Given the description of an element on the screen output the (x, y) to click on. 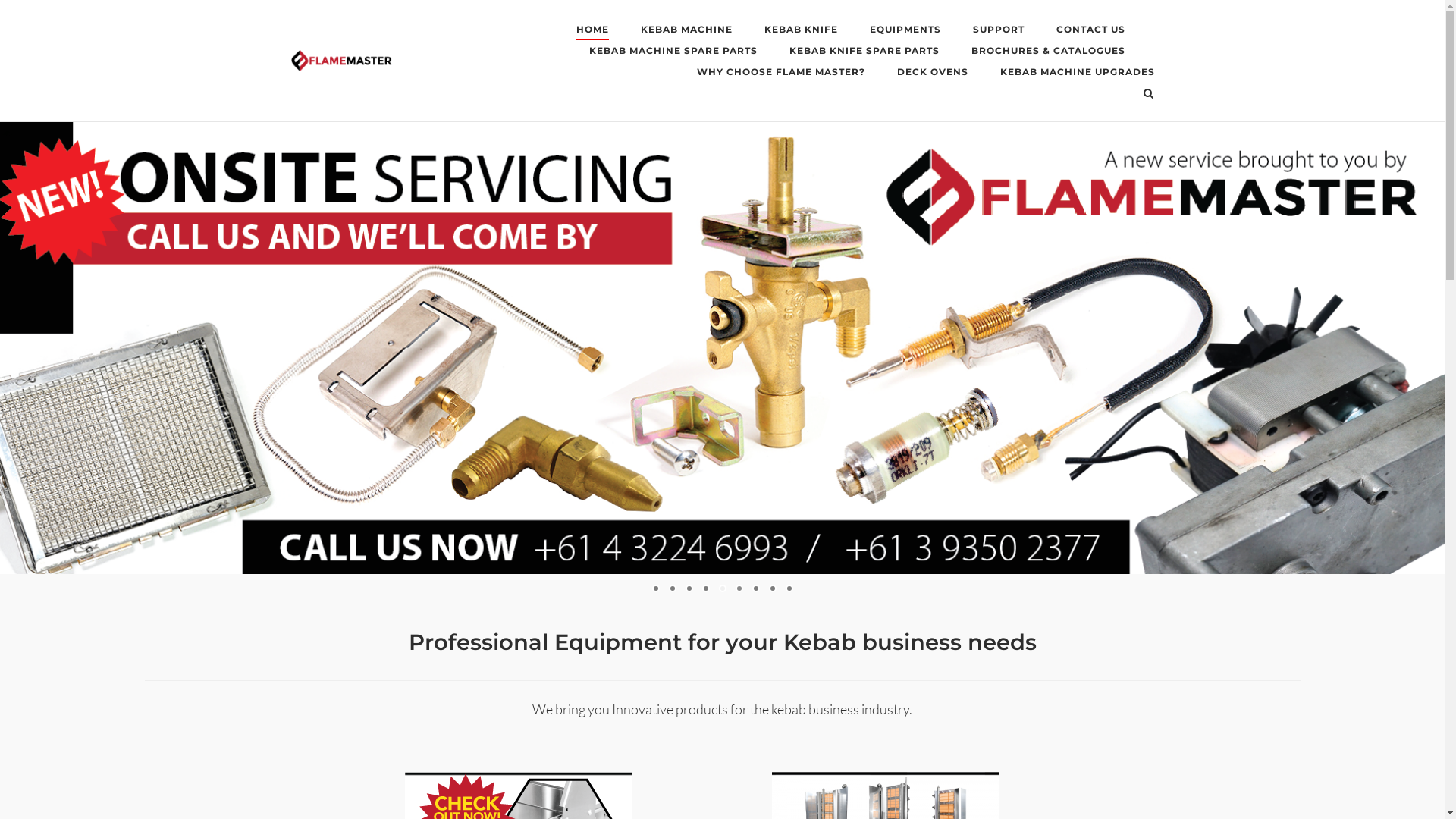
HOME Element type: text (592, 31)
4 Element type: text (705, 588)
9 Element type: text (789, 588)
3 Element type: text (689, 588)
KEBAB KNIFE SPARE PARTS Element type: text (863, 52)
SUPPORT Element type: text (997, 31)
1 Element type: text (655, 588)
KEBAB MACHINE SPARE PARTS Element type: text (672, 52)
BROCHURES & CATALOGUES Element type: text (1047, 52)
KEBAB MACHINE UPGRADES Element type: text (1076, 73)
KEBAB MACHINE Element type: text (685, 31)
KEBAB KNIFE Element type: text (800, 31)
2 Element type: text (672, 588)
DECK OVENS Element type: text (931, 73)
7 Element type: text (755, 588)
8 Element type: text (772, 588)
CONTACT US Element type: text (1089, 31)
5 Element type: text (722, 588)
6 Element type: text (739, 588)
WHY CHOOSE FLAME MASTER? Element type: text (780, 73)
slider-Artboard 25 Element type: hover (722, 348)
EQUIPMENTS Element type: text (904, 31)
